Given the description of an element on the screen output the (x, y) to click on. 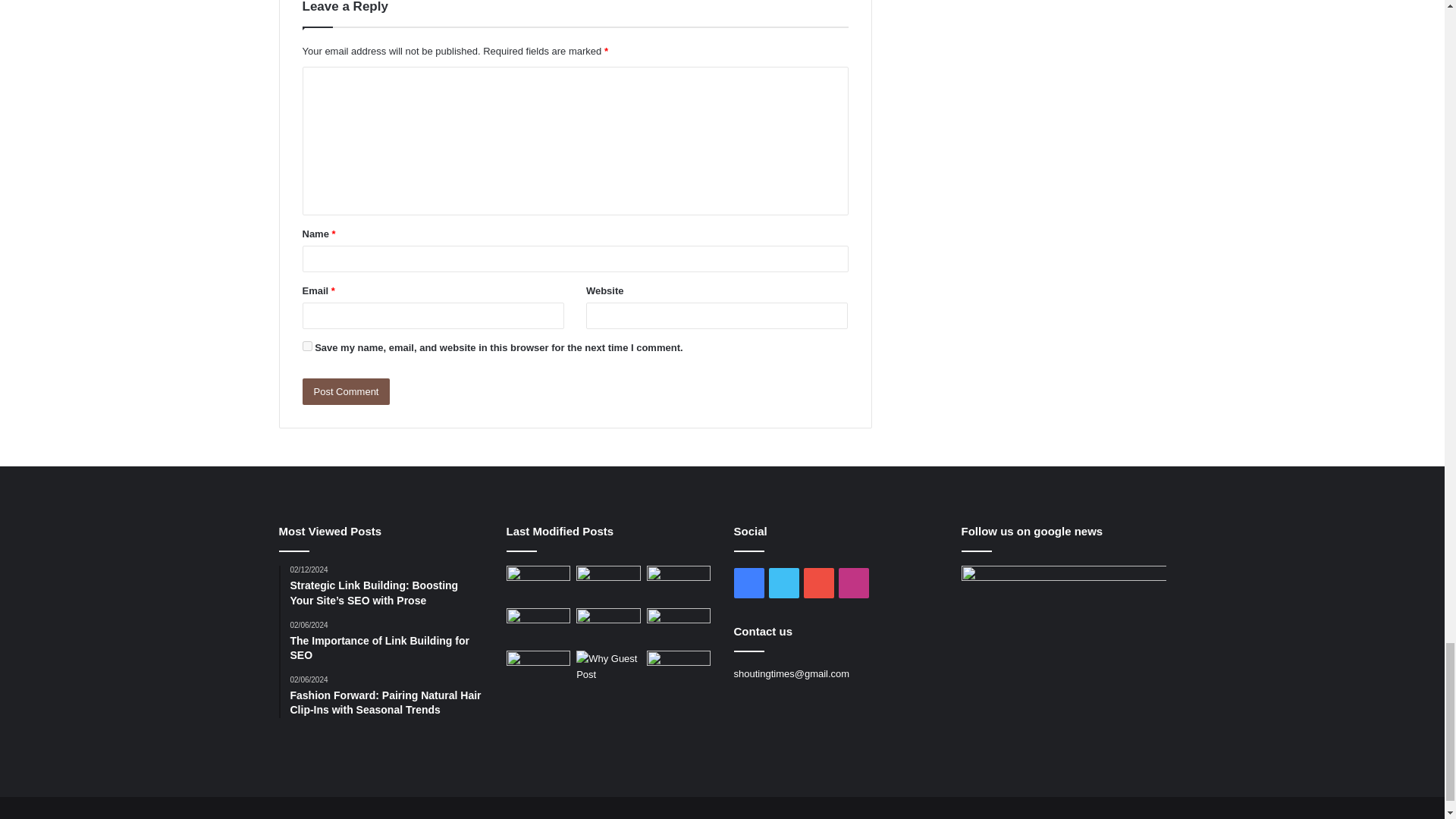
Post Comment (345, 391)
yes (306, 346)
